Given the description of an element on the screen output the (x, y) to click on. 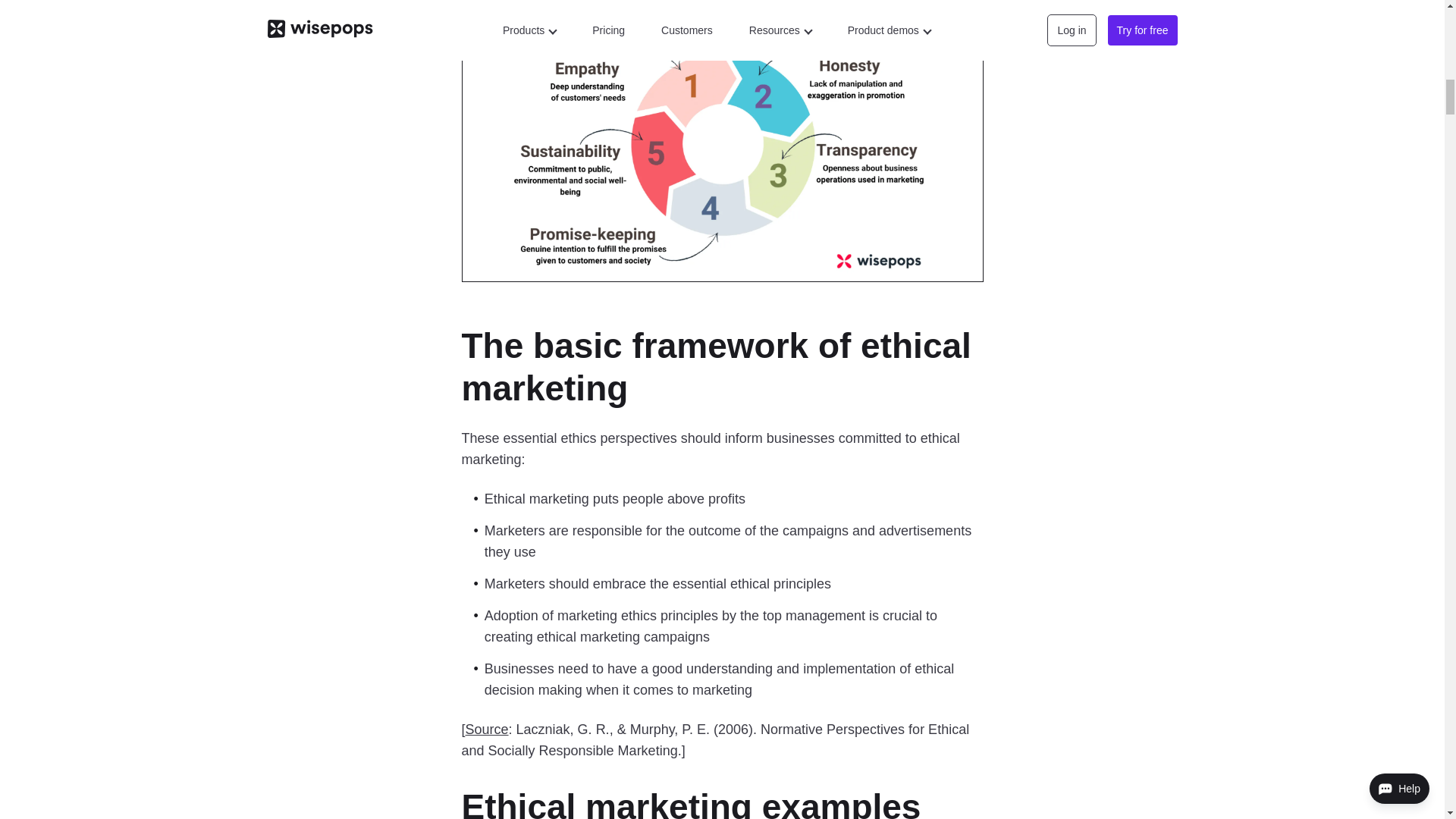
Source (486, 729)
